Given the description of an element on the screen output the (x, y) to click on. 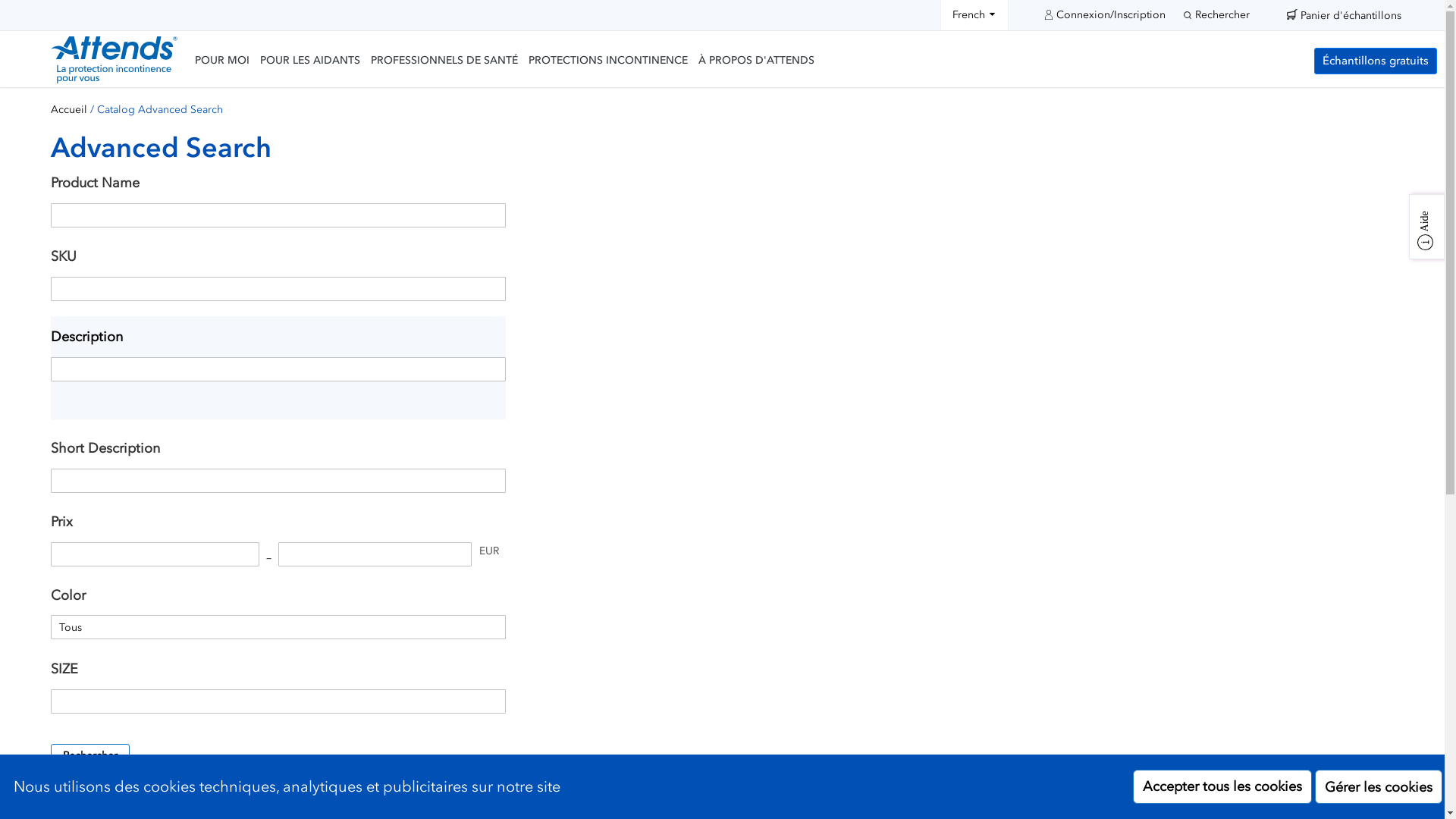
Accueil Element type: text (68, 109)
Connexion/Inscription Element type: text (1104, 14)
Rechercher Element type: text (1216, 14)
Price Element type: hover (154, 554)
Accepter tous les cookies Element type: text (1221, 786)
SIZE Element type: hover (277, 701)
POUR MOI Element type: text (221, 60)
SKU Element type: hover (277, 288)
Price Element type: hover (374, 554)
POUR LES AIDANTS Element type: text (309, 60)
PROTECTIONS INCONTINENCE Element type: text (608, 60)
Rechercher Element type: text (89, 755)
Description Element type: hover (277, 369)
Product Name Element type: hover (277, 215)
Attends Logo Element type: hover (113, 62)
Short Description Element type: hover (277, 480)
